Given the description of an element on the screen output the (x, y) to click on. 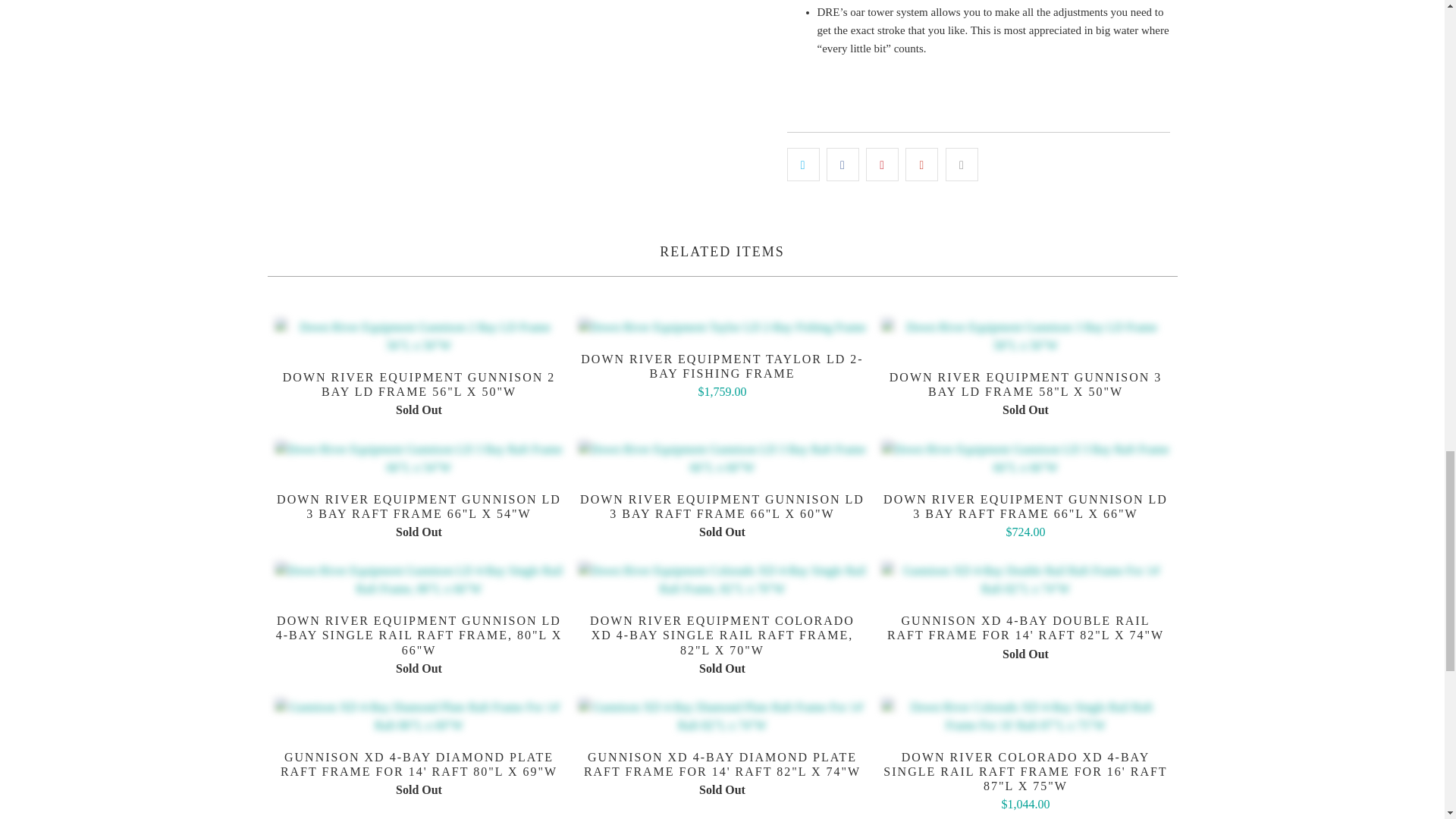
Email this to a friend (961, 164)
Share this on Facebook (843, 164)
Share this on Pinterest (882, 164)
Share this on Twitter (803, 164)
